Given the description of an element on the screen output the (x, y) to click on. 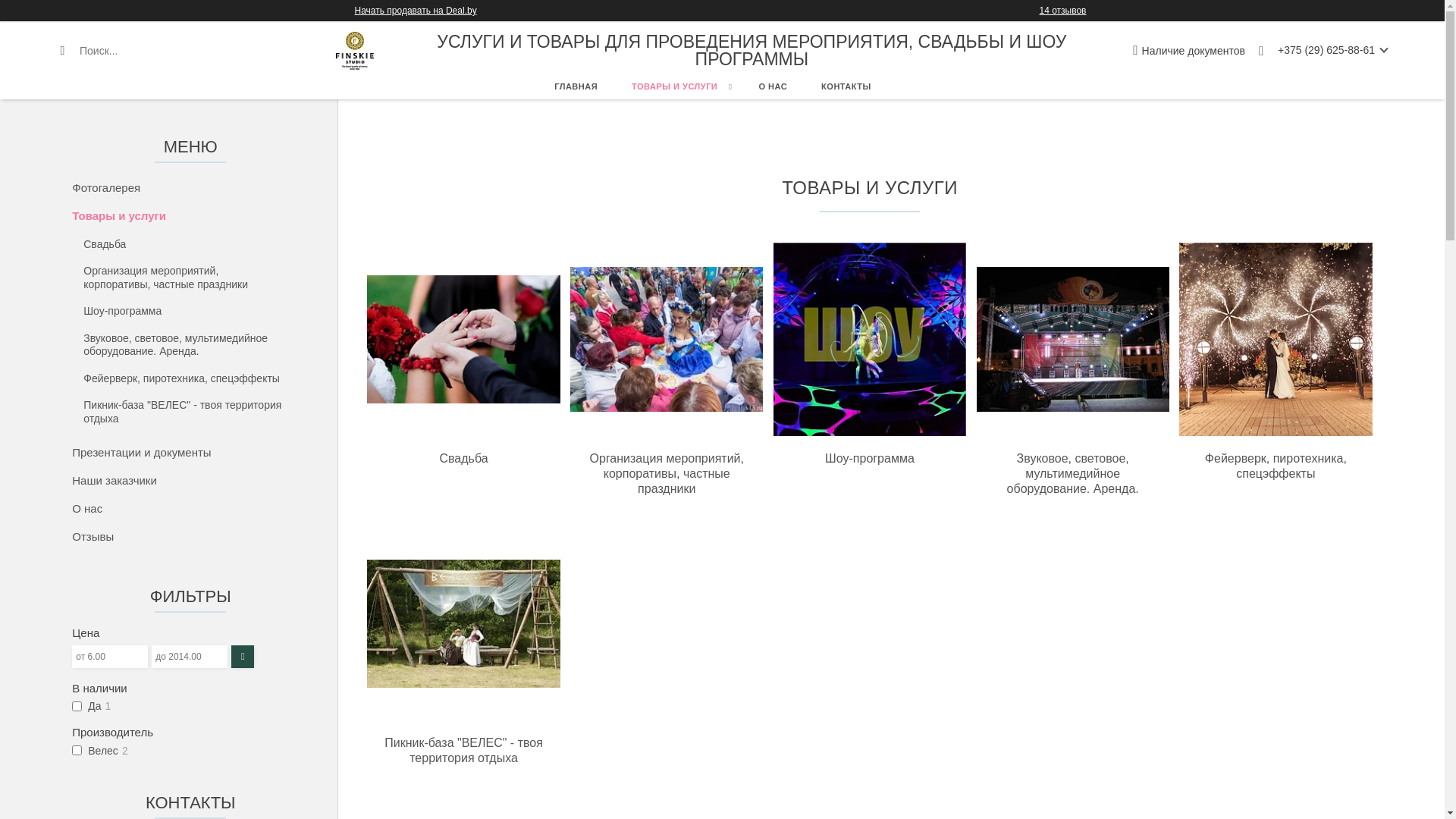
FINSKIE studio Element type: hover (354, 50)
